Given the description of an element on the screen output the (x, y) to click on. 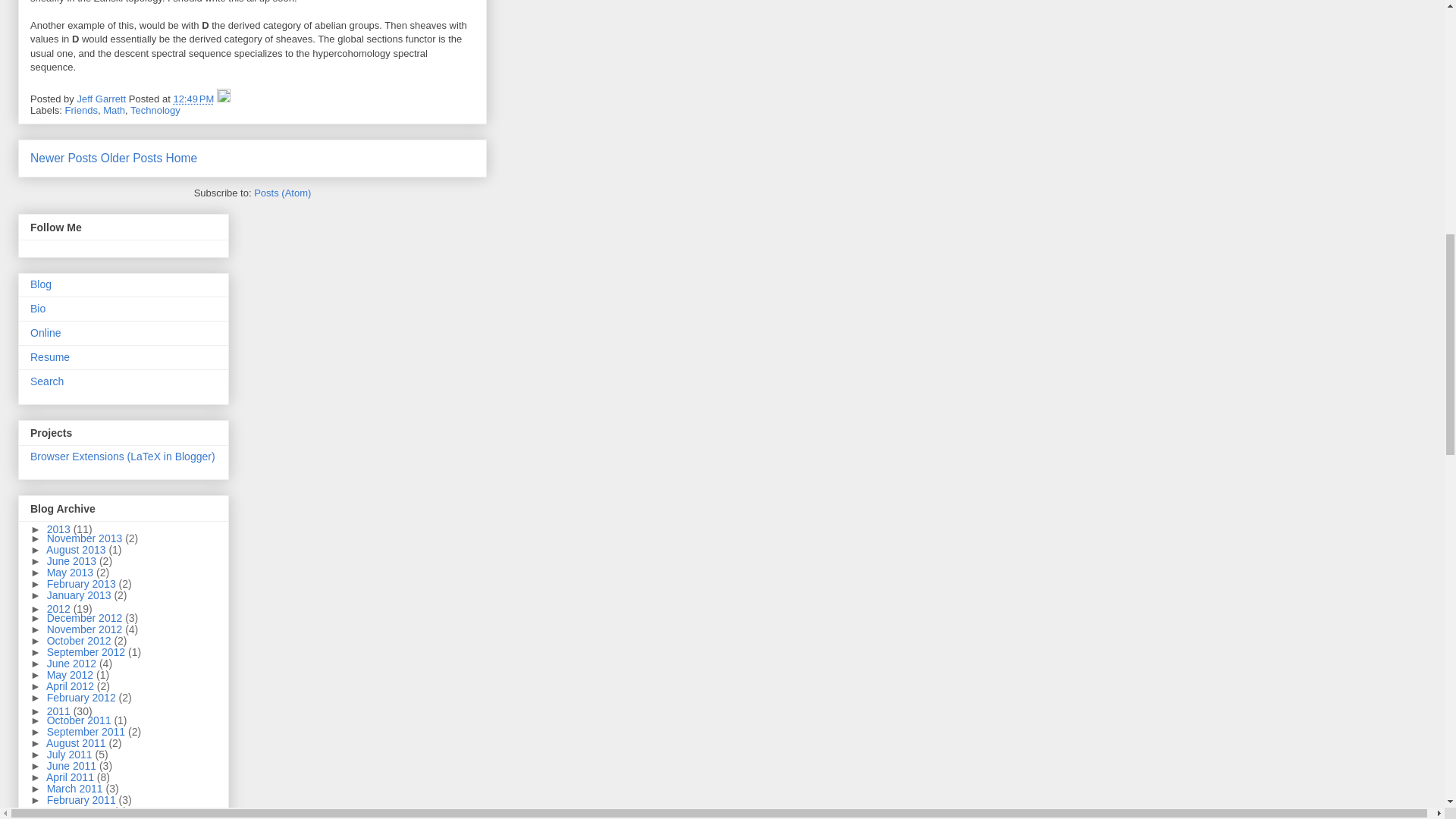
Newer Posts (63, 157)
Math (114, 110)
2013 (60, 529)
permanent link (193, 98)
Newer Posts (63, 157)
Bio (37, 308)
Older Posts (130, 157)
author profile (102, 98)
February 2013 (82, 583)
Edit Post (223, 98)
Online (45, 332)
May 2013 (71, 572)
Older Posts (130, 157)
November 2013 (85, 538)
Home (181, 157)
